Given the description of an element on the screen output the (x, y) to click on. 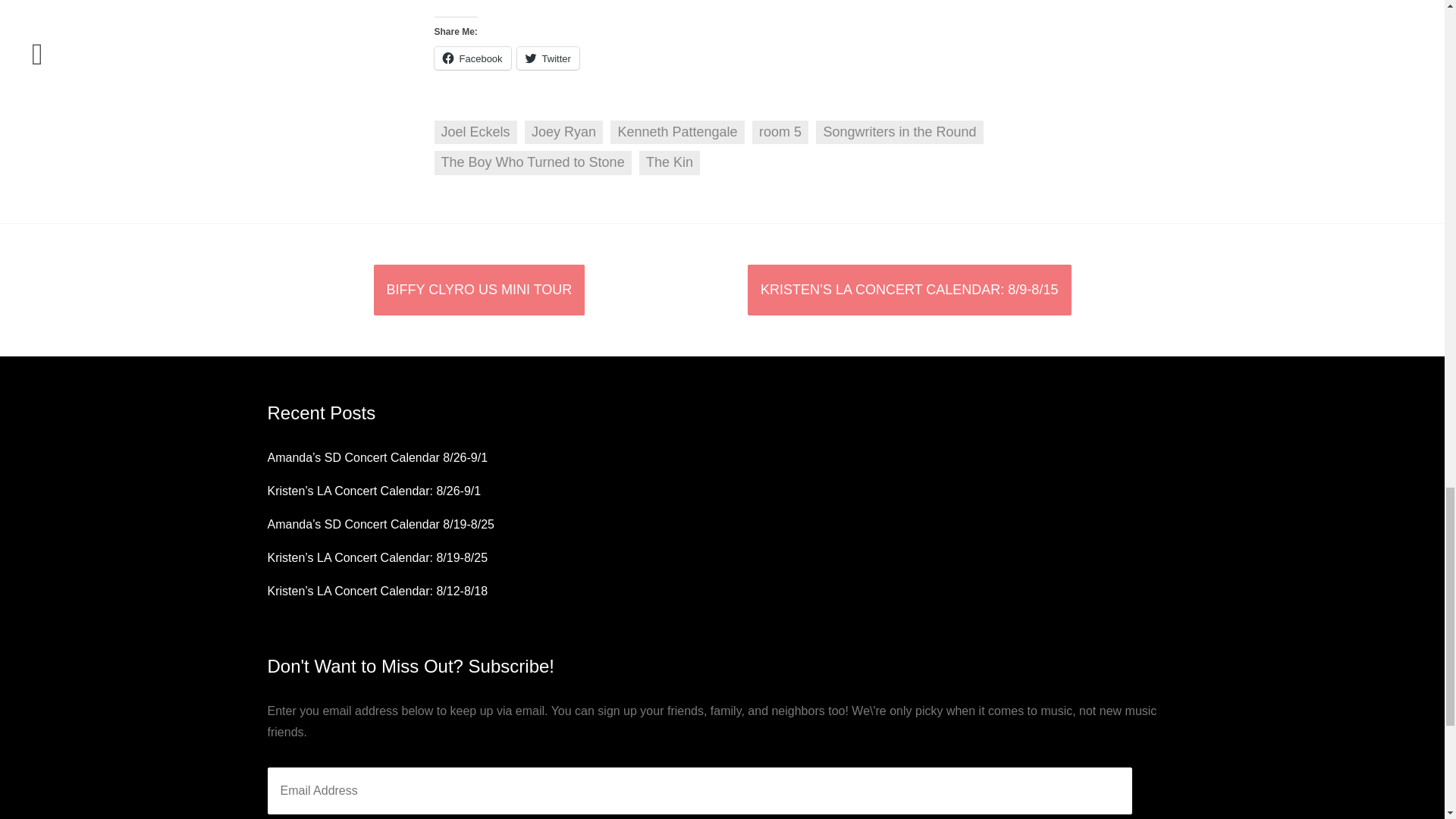
Joel Eckels (474, 132)
Click to share on Facebook (472, 57)
Facebook (472, 57)
Twitter (547, 57)
Click to share on Twitter (547, 57)
